Given the description of an element on the screen output the (x, y) to click on. 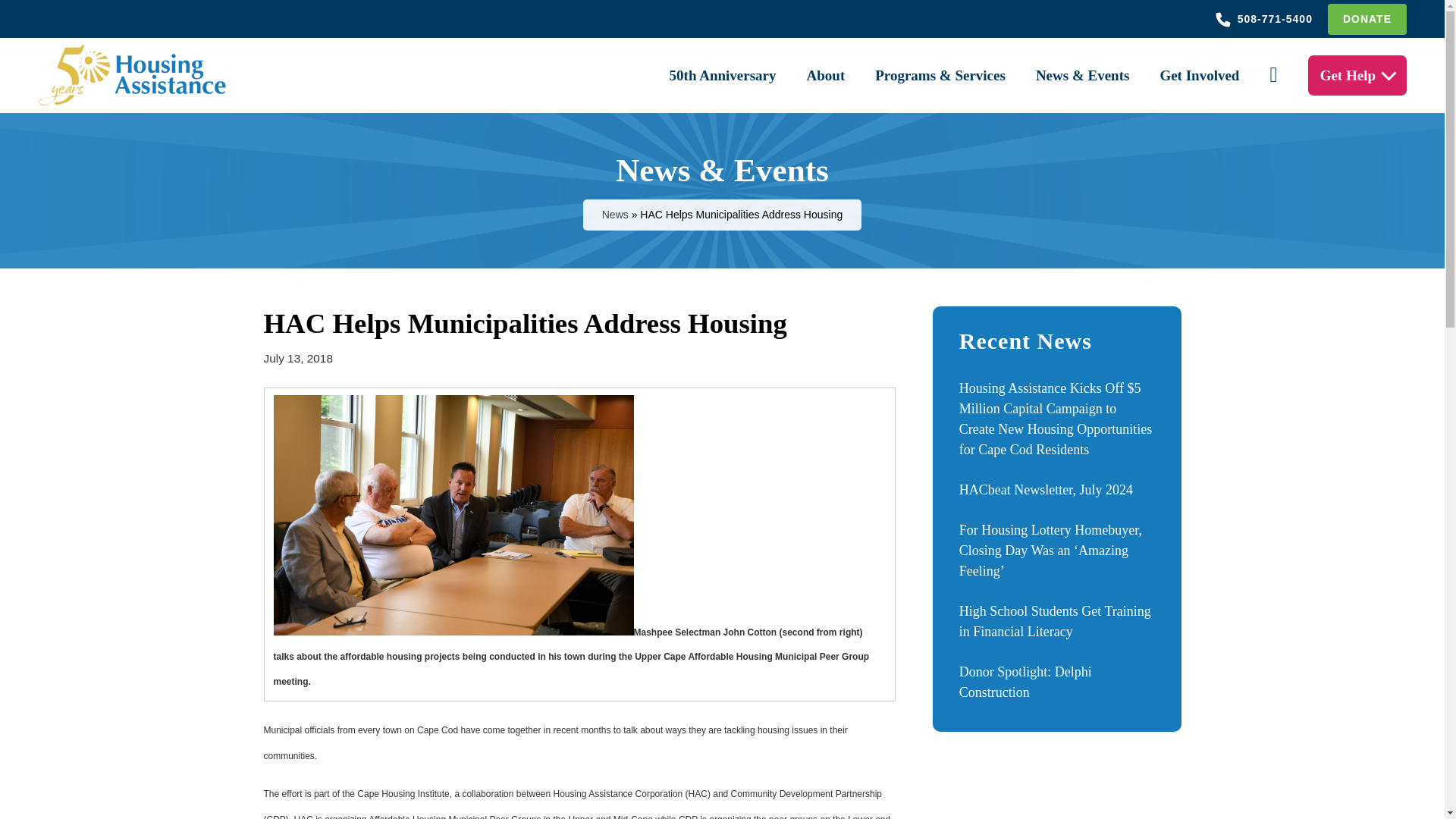
DONATE (1366, 18)
hac-logo (136, 74)
Get Involved (1198, 74)
hac-logo (136, 75)
About (825, 74)
Get Help (1347, 74)
508-771-5400 (1267, 18)
50th Anniversary (722, 74)
